Given the description of an element on the screen output the (x, y) to click on. 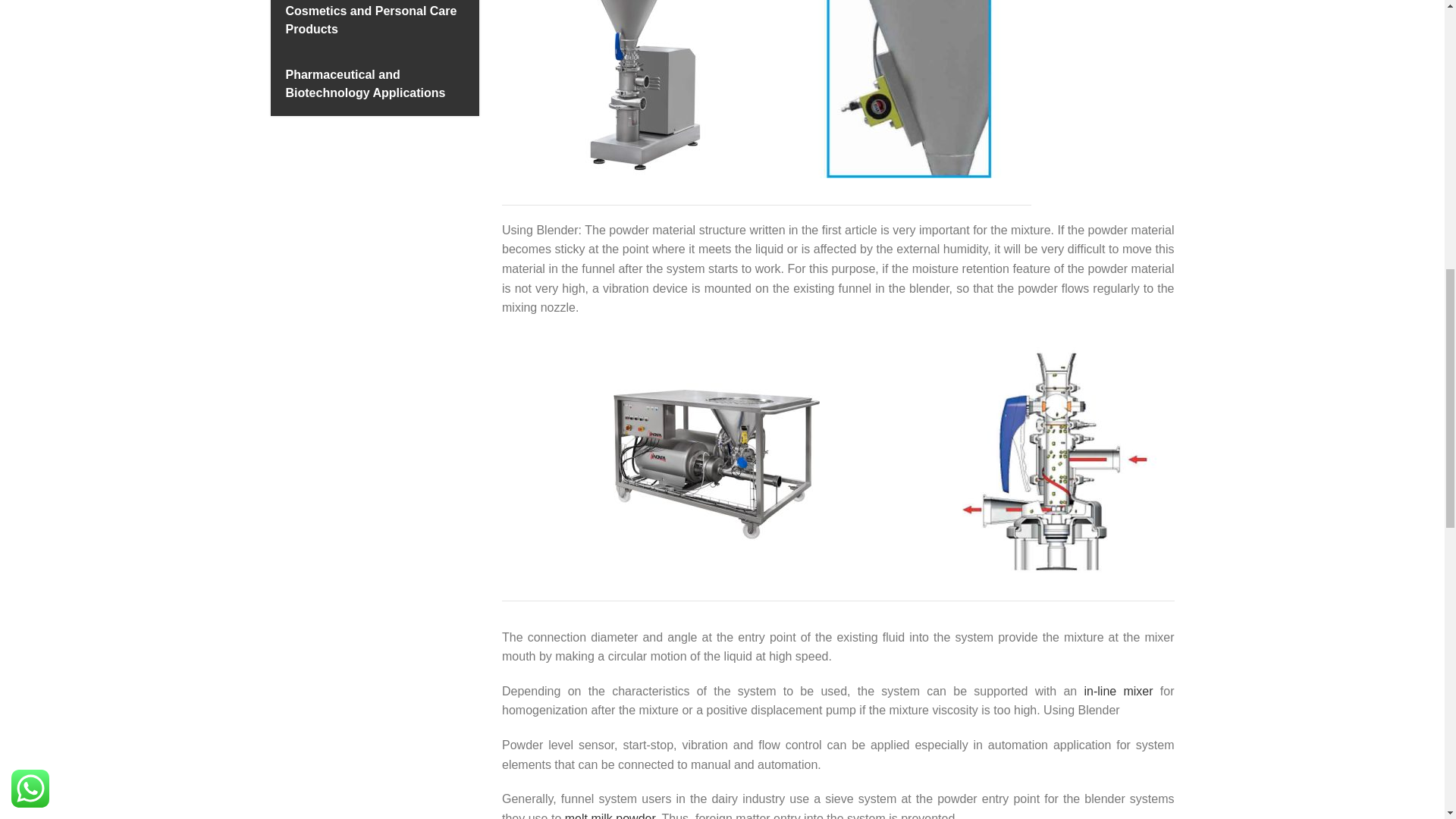
Using Blender 3 (714, 460)
Using Blender 2 (908, 89)
Using Blender 1 (643, 89)
Using Blender 4 (1050, 460)
